Given the description of an element on the screen output the (x, y) to click on. 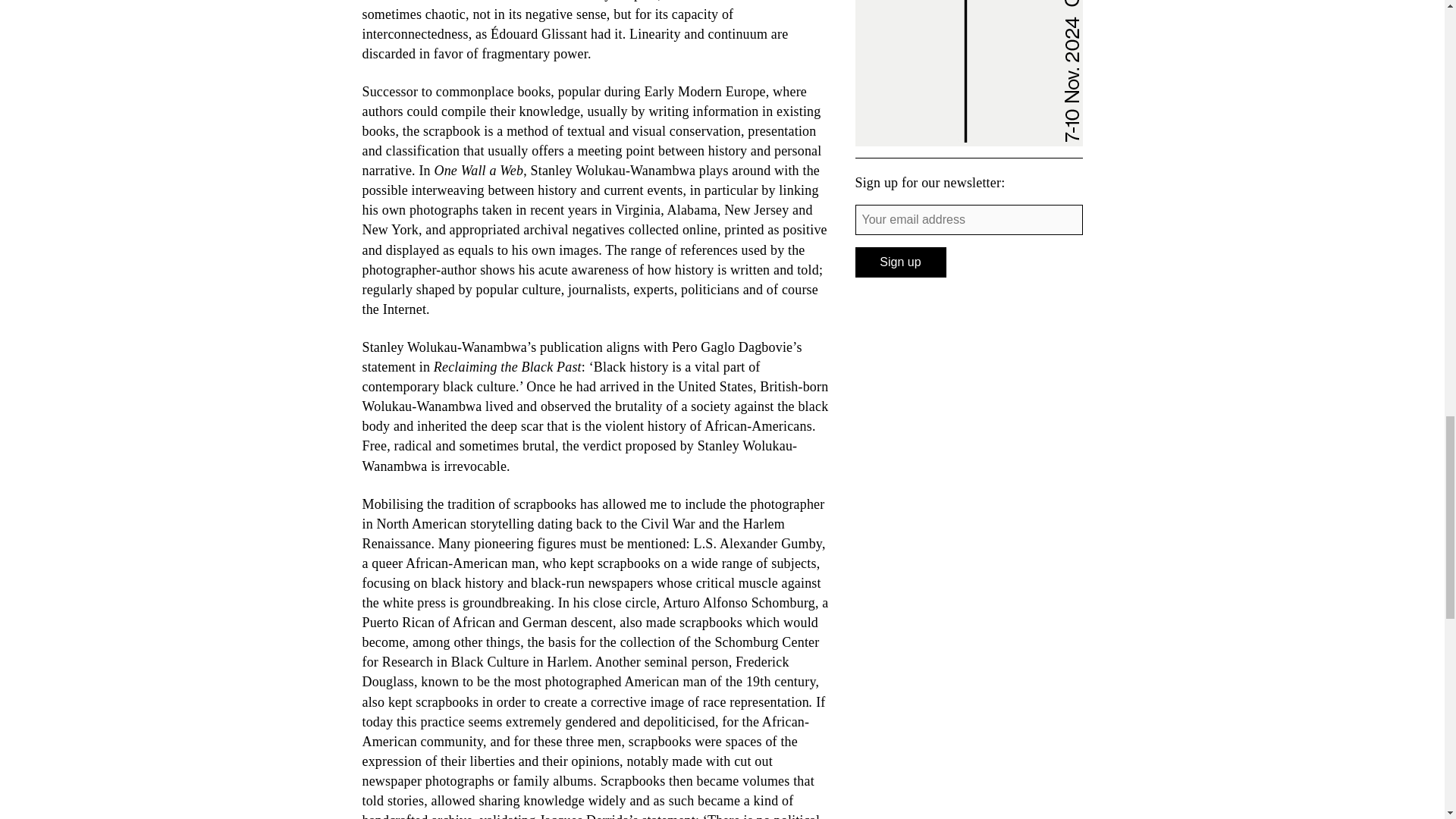
Sign up (901, 262)
Sign up (901, 262)
